Given the description of an element on the screen output the (x, y) to click on. 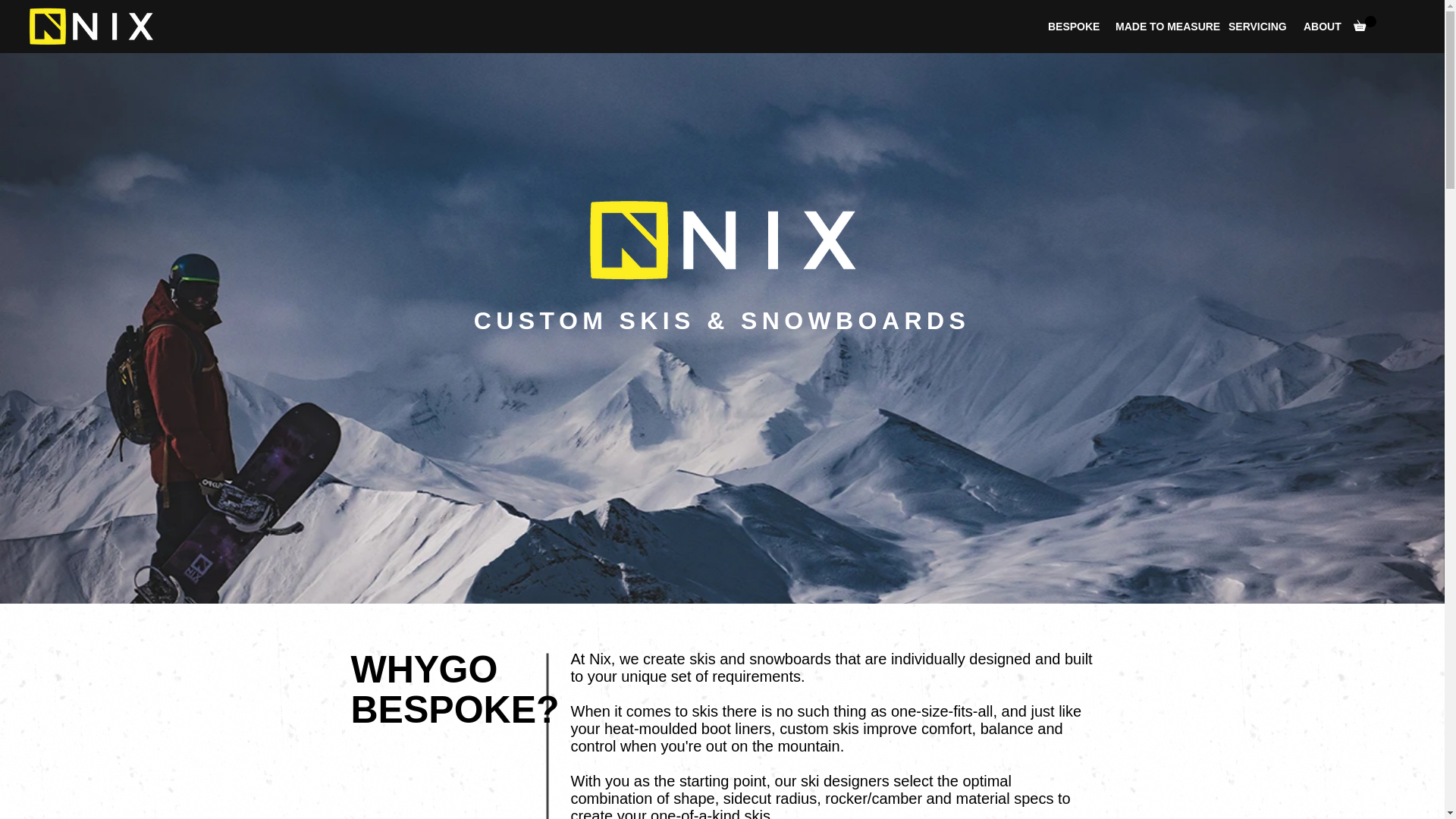
Go to Homepage (91, 26)
SERVICING (1254, 26)
BESPOKE (1069, 26)
